Given the description of an element on the screen output the (x, y) to click on. 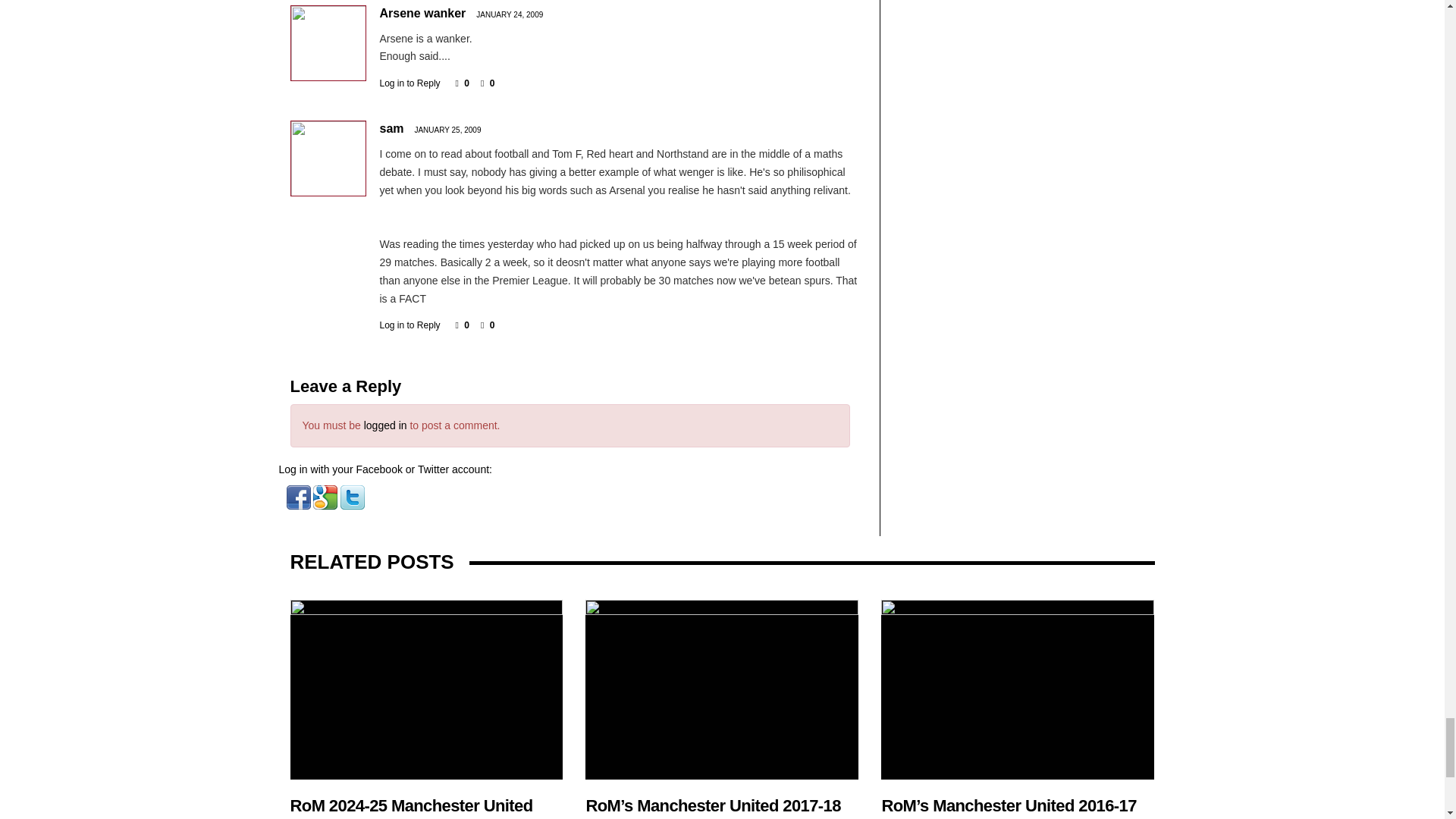
RoM 2024-25 Manchester United Season Preview (425, 689)
Connect with Twitter (352, 496)
Connect with Google (326, 496)
Connect with Facebook (300, 496)
